Given the description of an element on the screen output the (x, y) to click on. 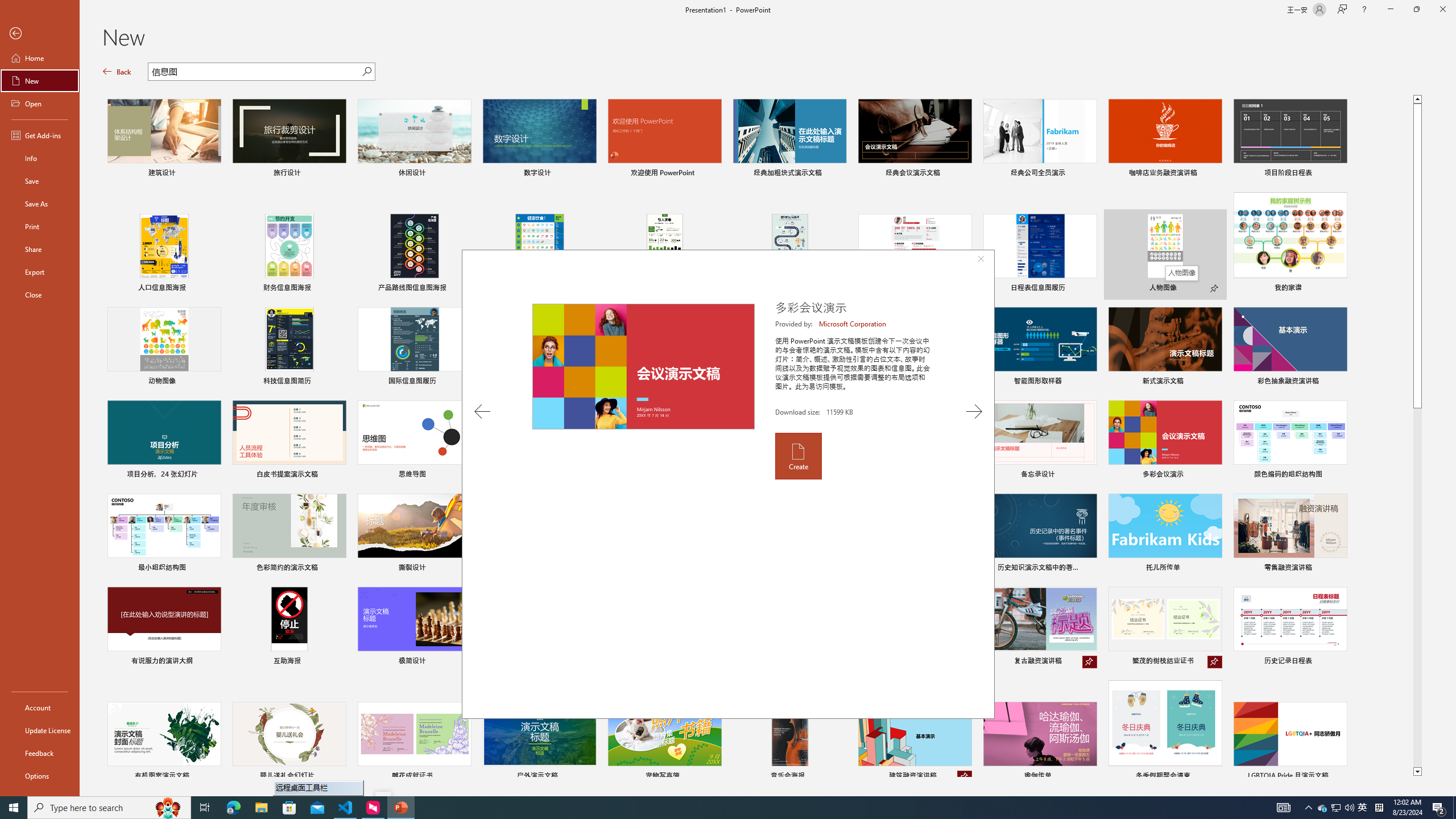
Feedback (40, 753)
Update License (40, 730)
Pin to list (1339, 776)
